Given the description of an element on the screen output the (x, y) to click on. 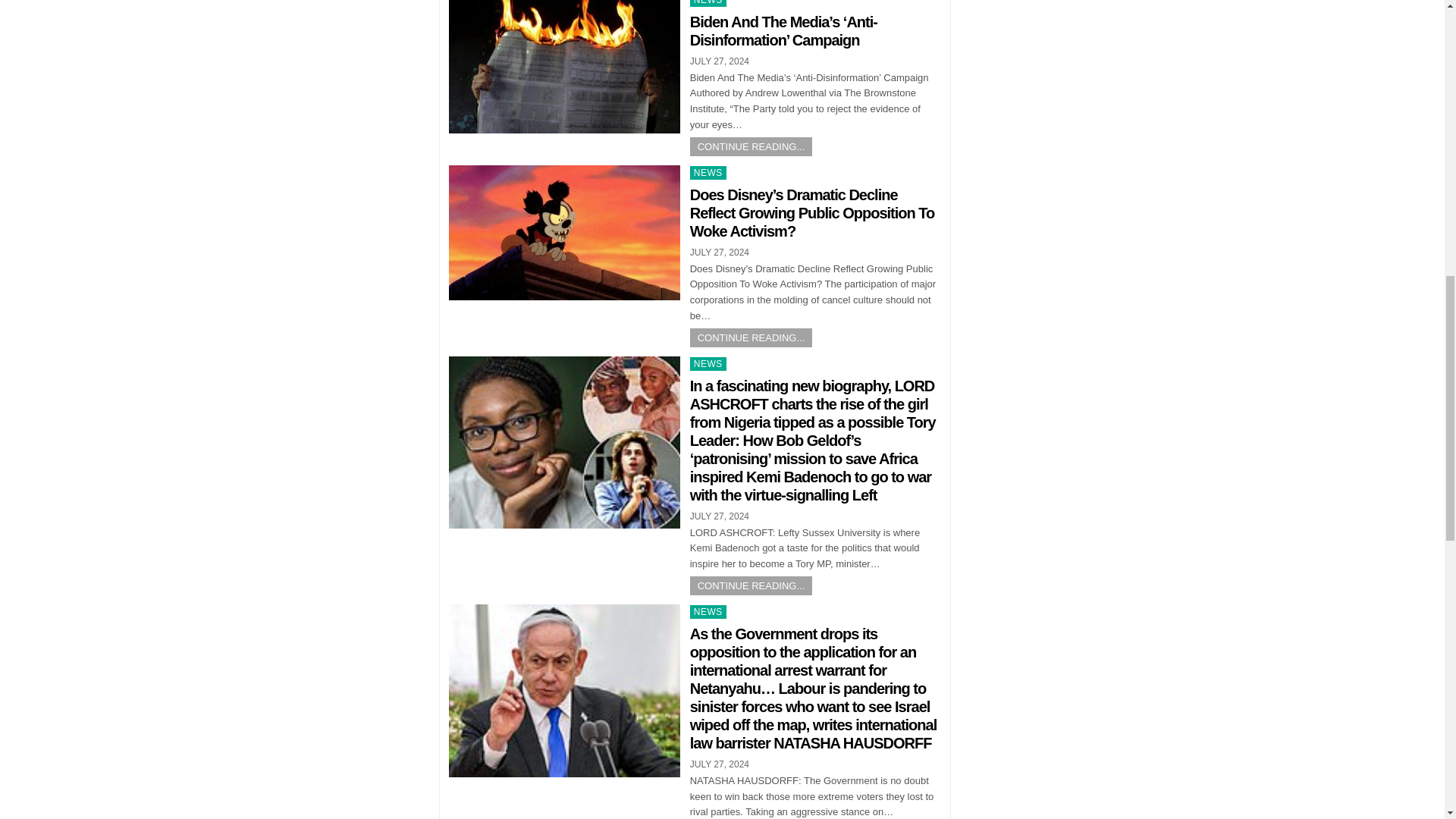
CONTINUE READING... (751, 585)
NEWS (708, 364)
NEWS (708, 172)
NEWS (708, 612)
CONTINUE READING... (751, 337)
NEWS (708, 3)
CONTINUE READING... (751, 146)
